Given the description of an element on the screen output the (x, y) to click on. 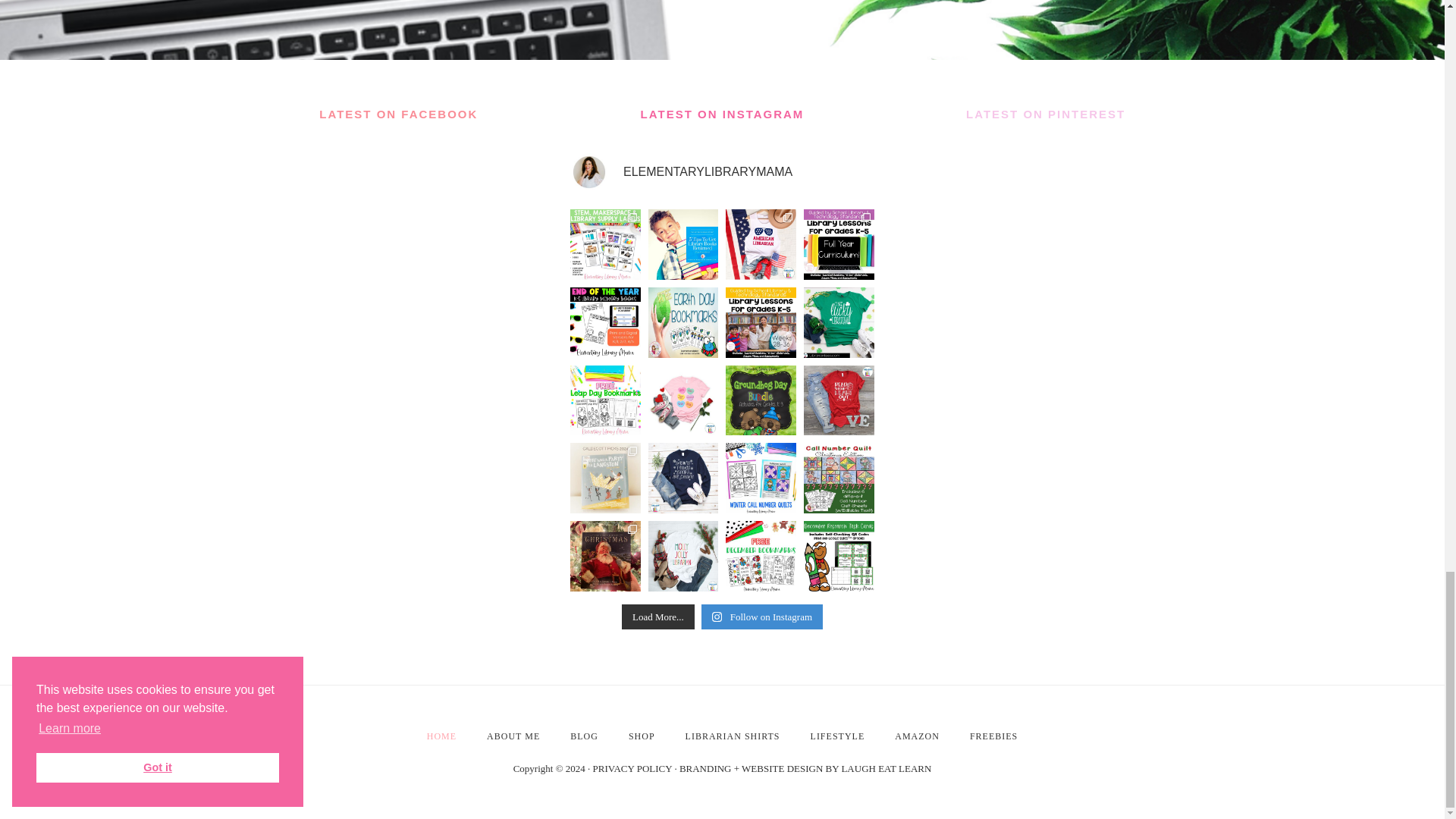
ELEMENTARYLIBRARYMAMA (722, 171)
